Given the description of an element on the screen output the (x, y) to click on. 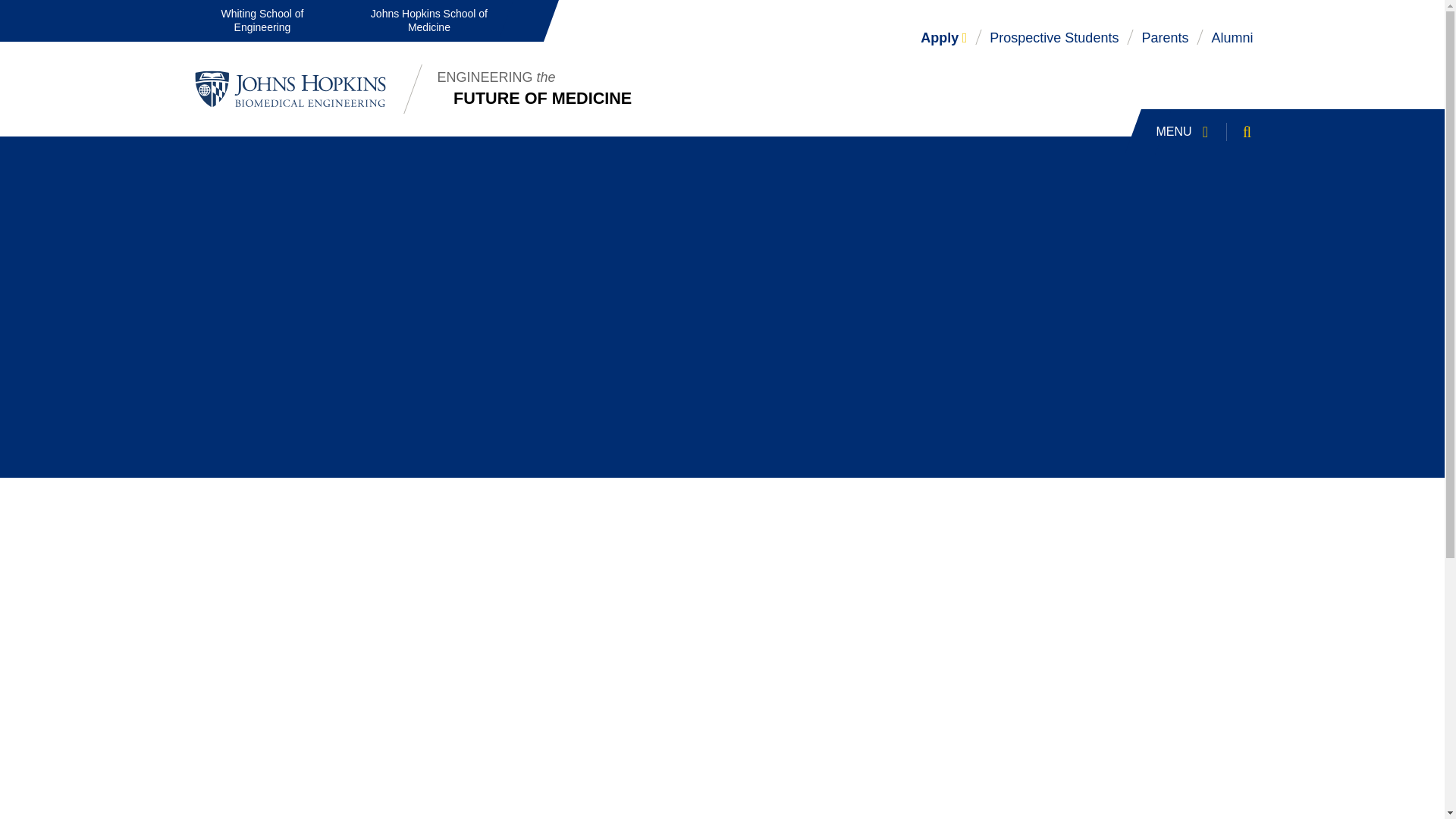
Alumni (1231, 37)
Prospective Students (1054, 37)
Whiting School of Engineering (261, 20)
Skip to Content (15, 9)
Johns Hopkins School of Medicine (428, 20)
Parents (1164, 37)
Johns Hopkins Biomedical Engineering (289, 88)
Apply (1209, 131)
